Given the description of an element on the screen output the (x, y) to click on. 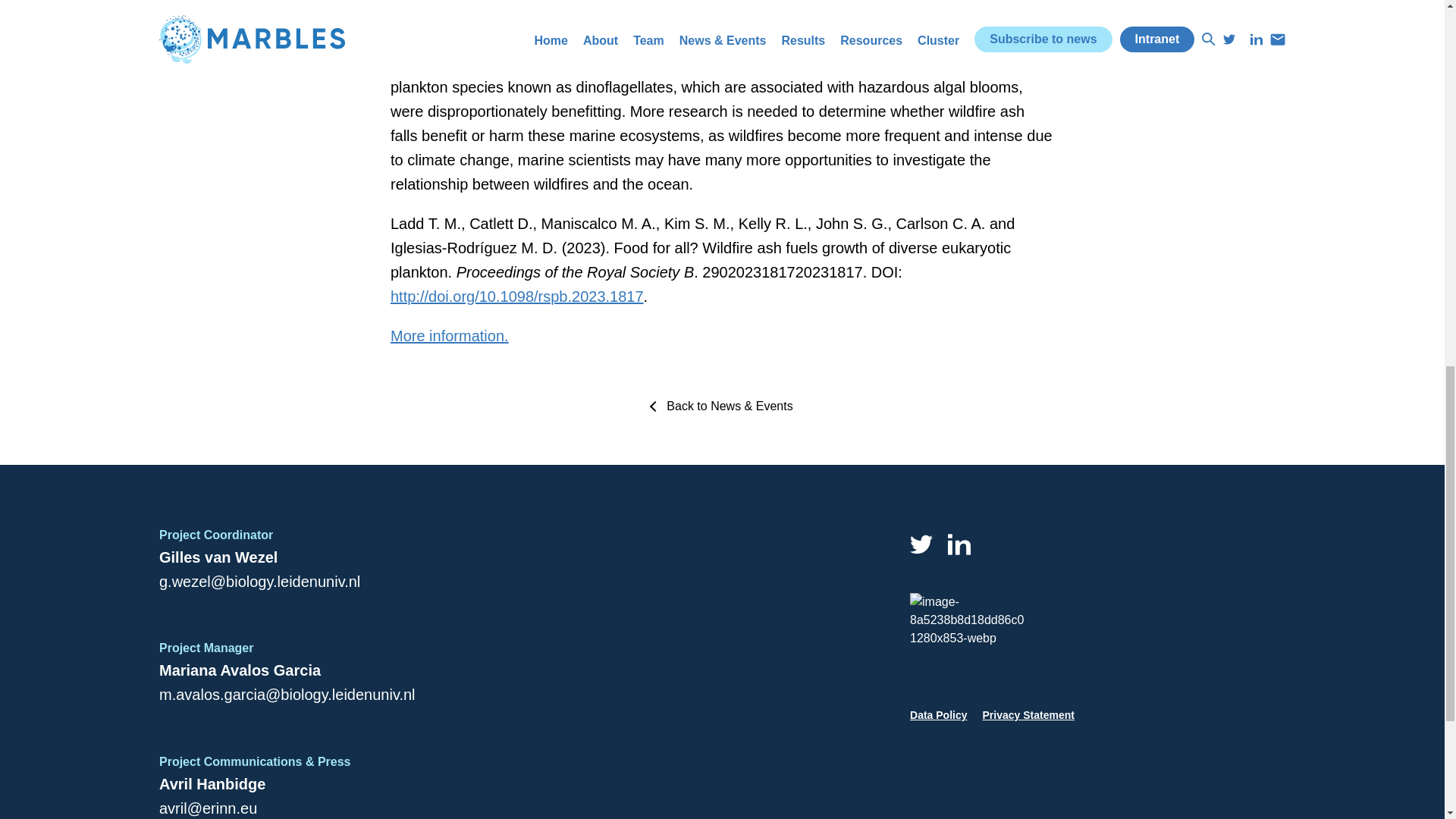
Data Policy (938, 714)
More information. (449, 335)
Twitter (921, 543)
Privacy Statement (1028, 714)
Linked In (959, 543)
